Given the description of an element on the screen output the (x, y) to click on. 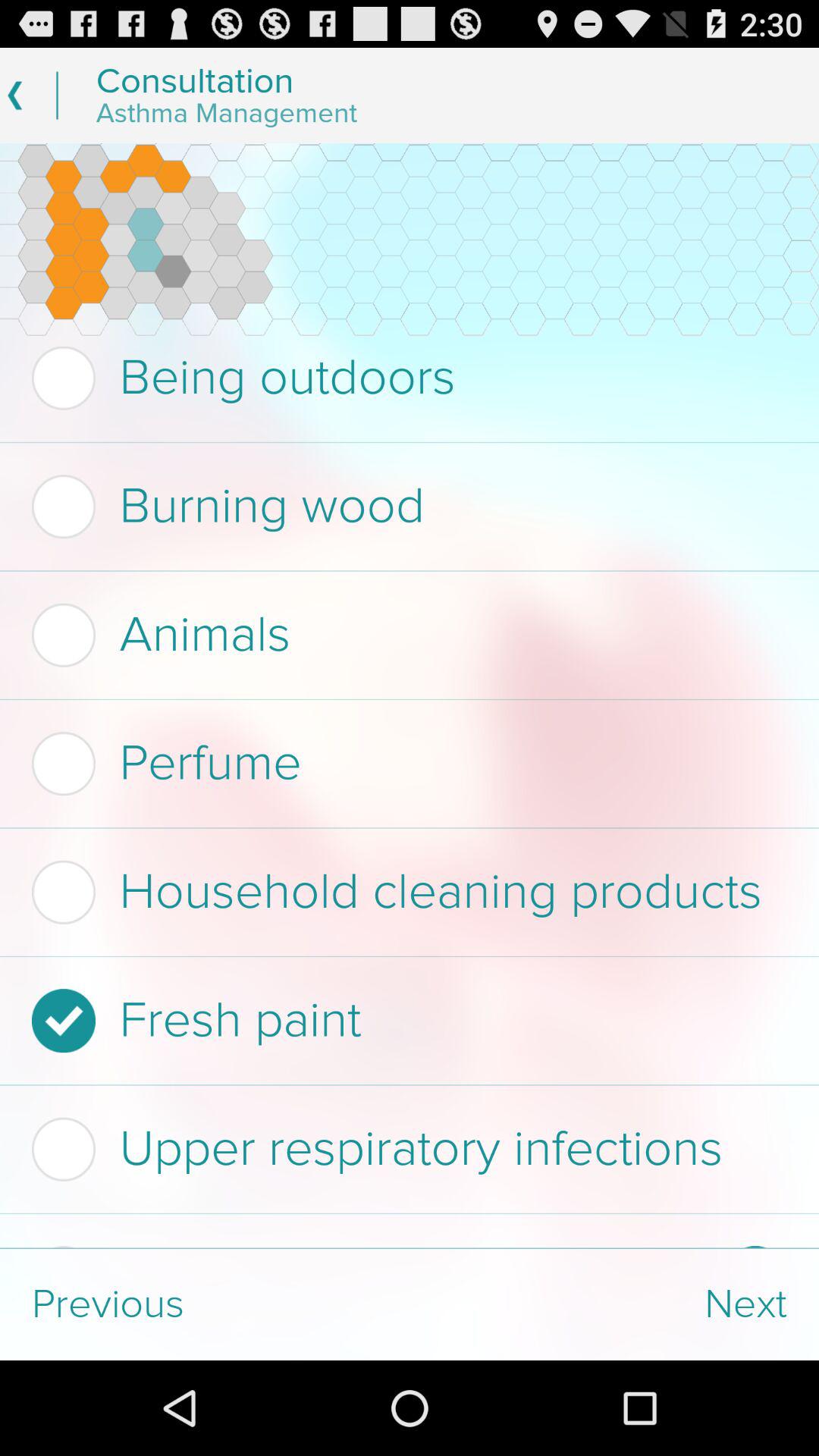
scroll to the fresh paint item (405, 1020)
